Given the description of an element on the screen output the (x, y) to click on. 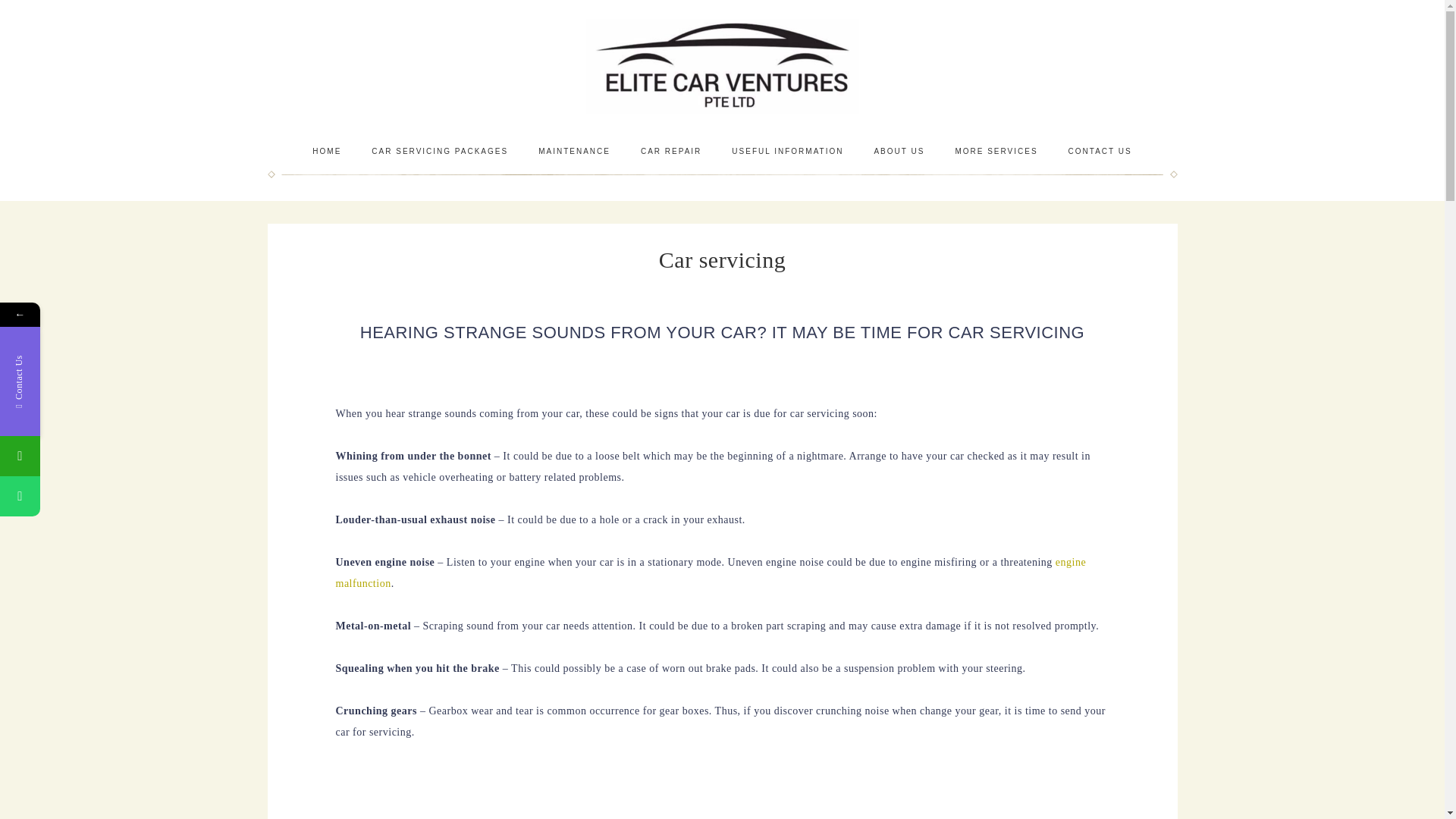
ECV CAR SERVICE SINGAPORE (722, 65)
CAR REPAIR (671, 151)
HOME (326, 151)
CAR SERVICING PACKAGES (439, 151)
MAINTENANCE (574, 151)
